Given the description of an element on the screen output the (x, y) to click on. 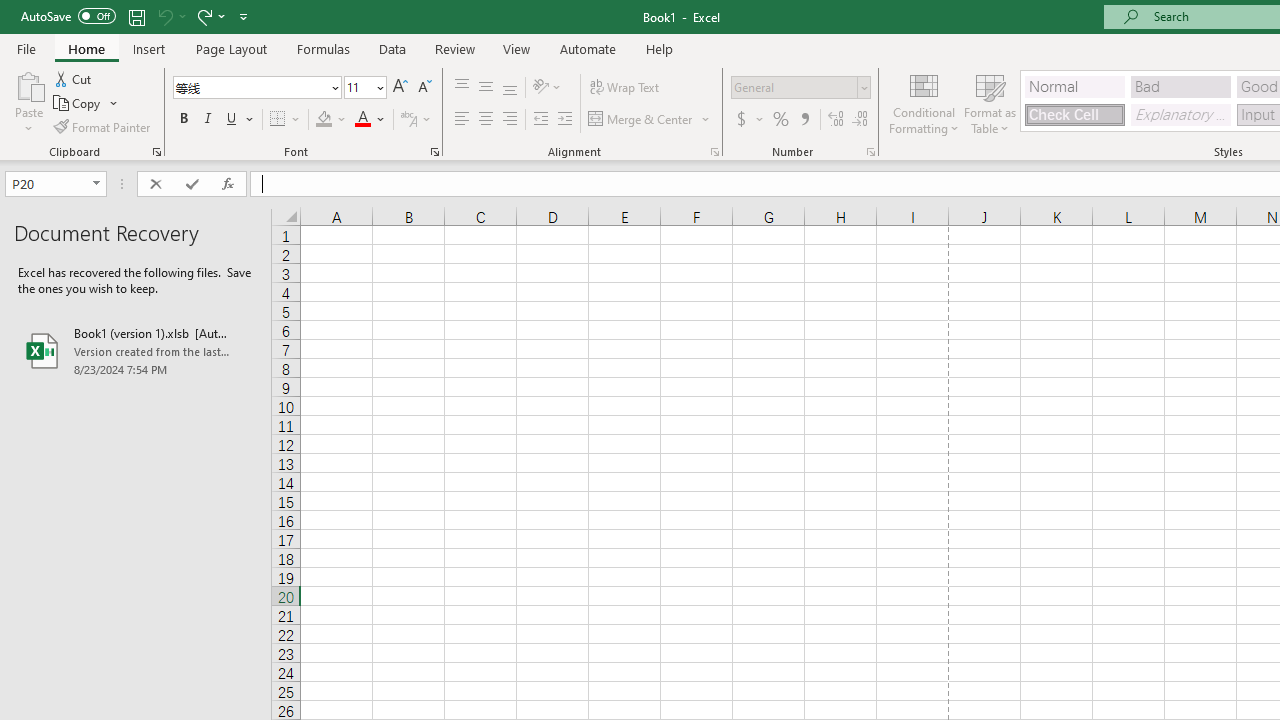
Fill Color RGB(255, 255, 0) (324, 119)
Orientation (547, 87)
Accounting Number Format (741, 119)
Center (485, 119)
Font Color (370, 119)
Increase Font Size (399, 87)
Decrease Decimal (859, 119)
Copy (78, 103)
